Given the description of an element on the screen output the (x, y) to click on. 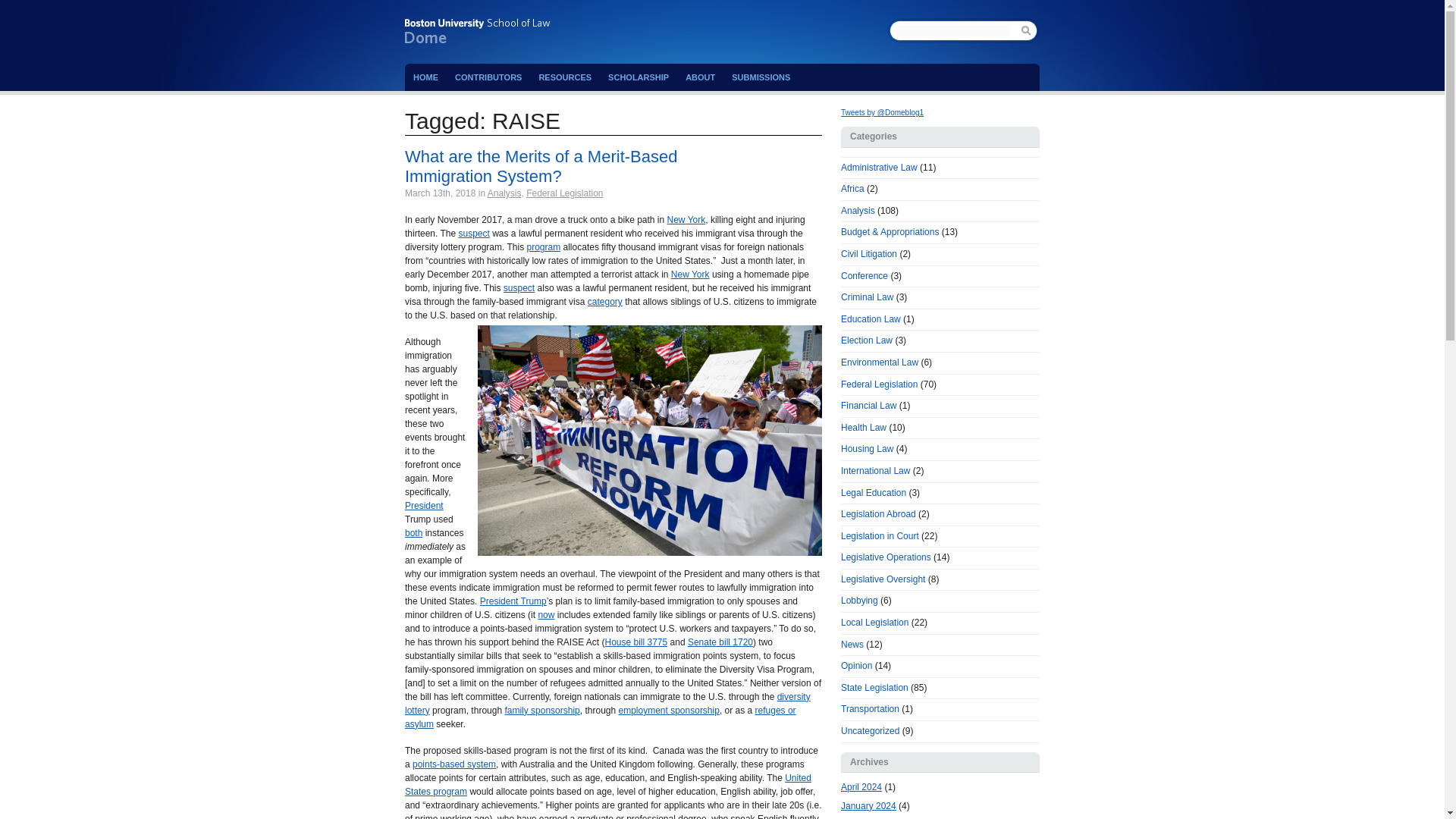
employment sponsorship (668, 710)
What are the Merits of a Merit-Based Immigration System? (540, 166)
both (413, 532)
Search for: (952, 30)
CONTRIBUTORS (487, 76)
family sponsorship (541, 710)
Search (1028, 30)
New York (690, 274)
HOME (425, 76)
Search (1028, 30)
New York (686, 219)
Search (1028, 30)
President Trump (513, 601)
program (542, 246)
SUBMISSIONS (760, 76)
